Given the description of an element on the screen output the (x, y) to click on. 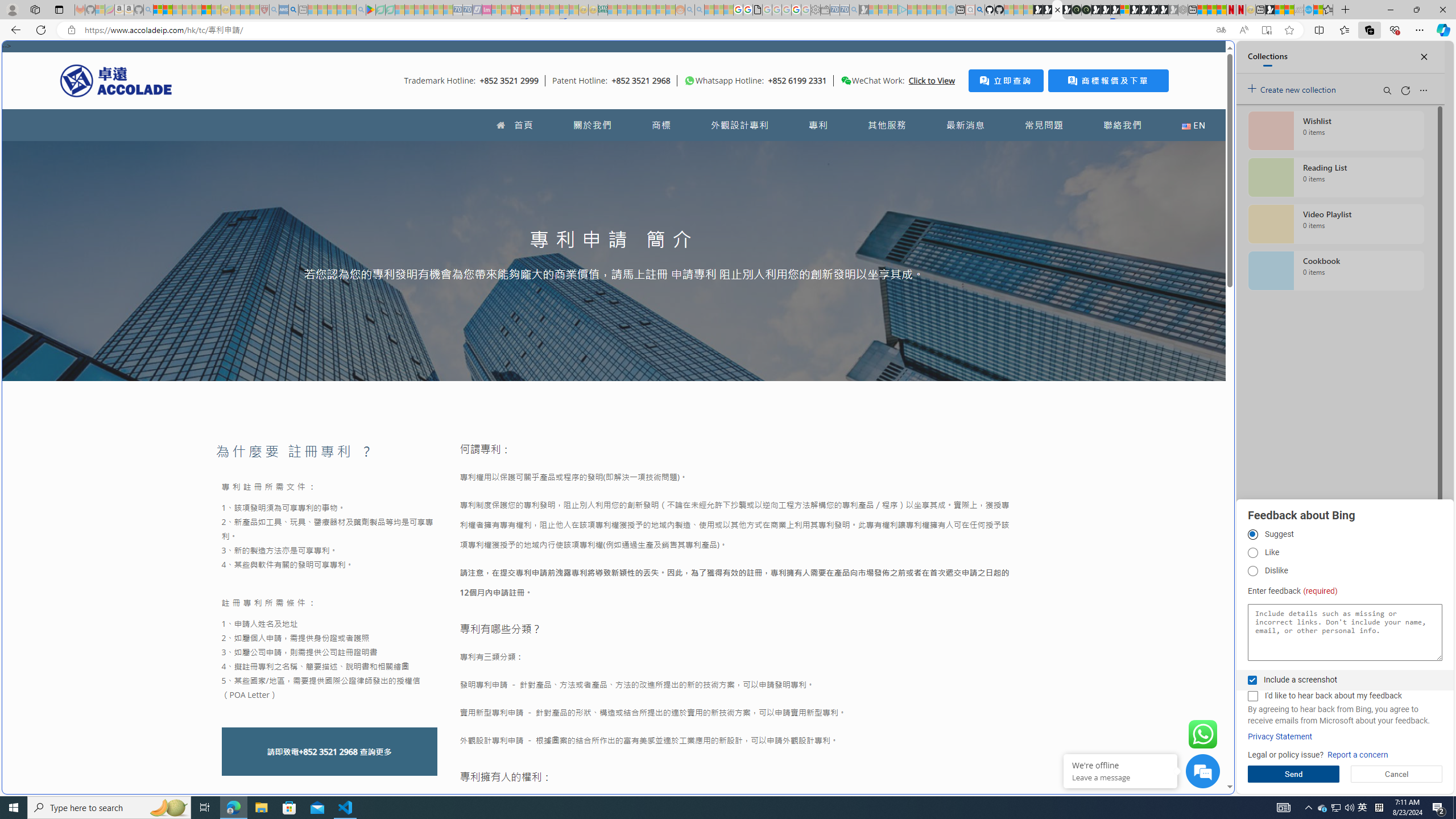
Home | Sky Blue Bikes - Sky Blue Bikes - Sleeping (950, 9)
utah sues federal government - Search (922, 389)
14 Common Myths Debunked By Scientific Facts - Sleeping (534, 9)
Microsoft account | Privacy (157, 9)
Suggest (1252, 534)
Navy Quest (1299, 9)
